Given the description of an element on the screen output the (x, y) to click on. 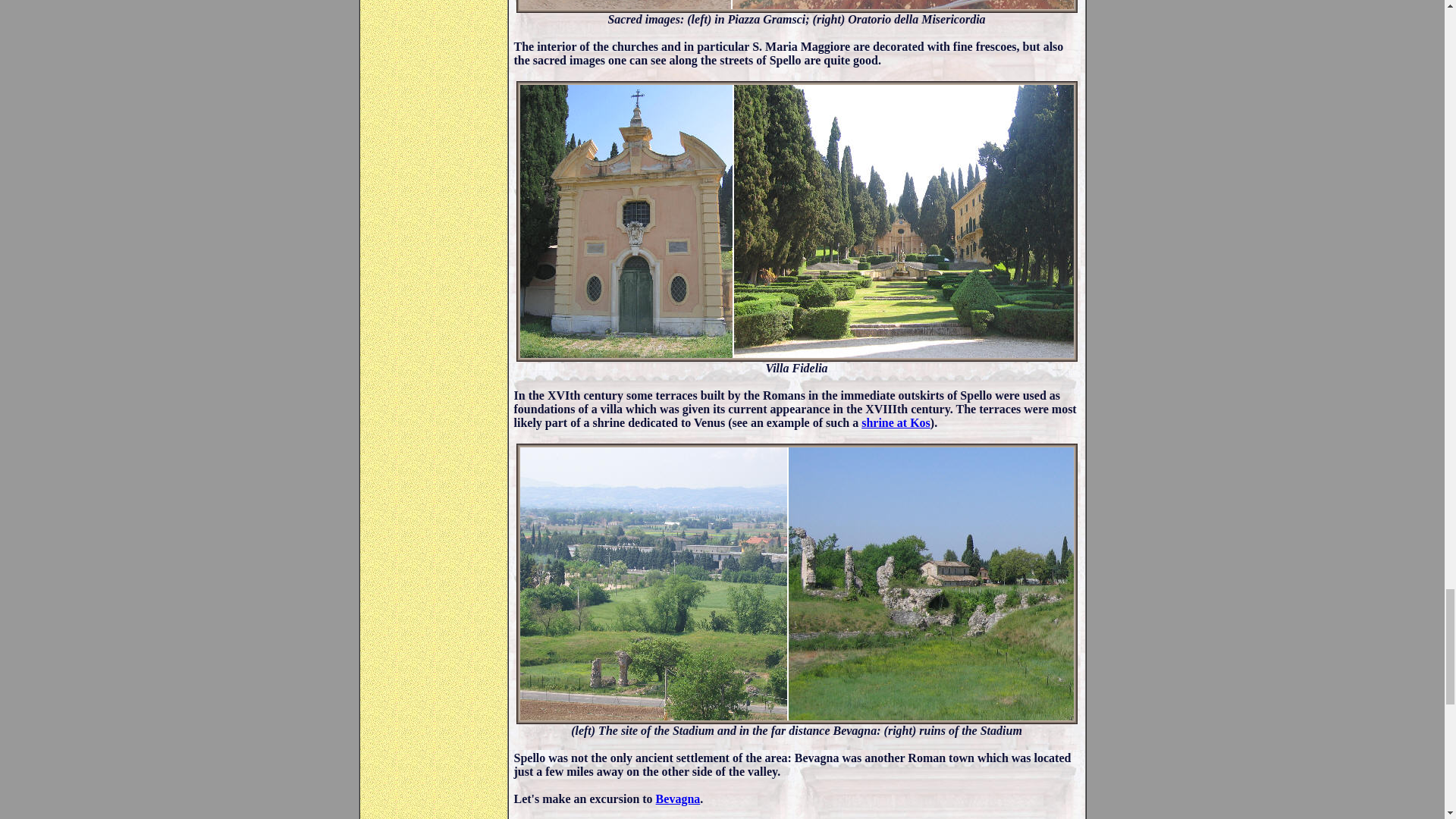
Bevagna (678, 798)
shrine at Kos (895, 422)
